Given the description of an element on the screen output the (x, y) to click on. 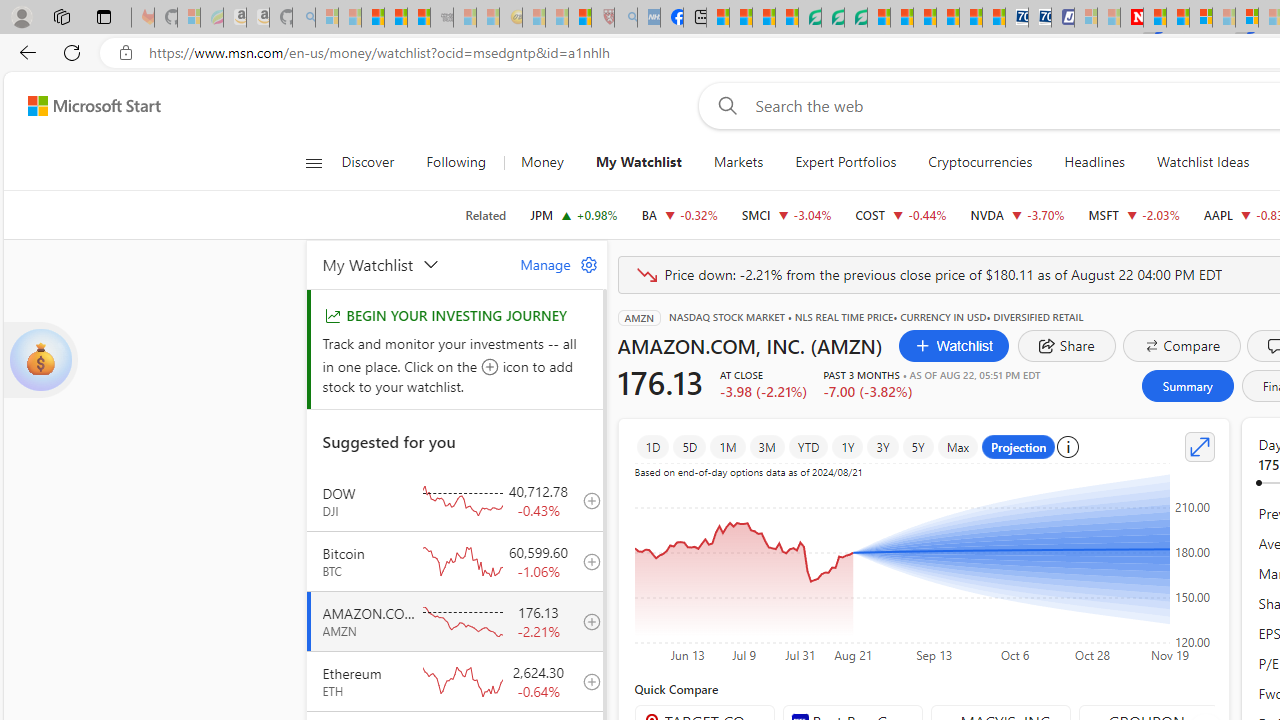
The Weather Channel - MSN (372, 17)
add to your watchlist (586, 681)
NVDA NVIDIA CORPORATION decrease 123.74 -4.76 -3.70% (1016, 214)
JPM JPMORGAN CHASE & CO. increase 216.71 +2.11 +0.98% (573, 214)
